Given the description of an element on the screen output the (x, y) to click on. 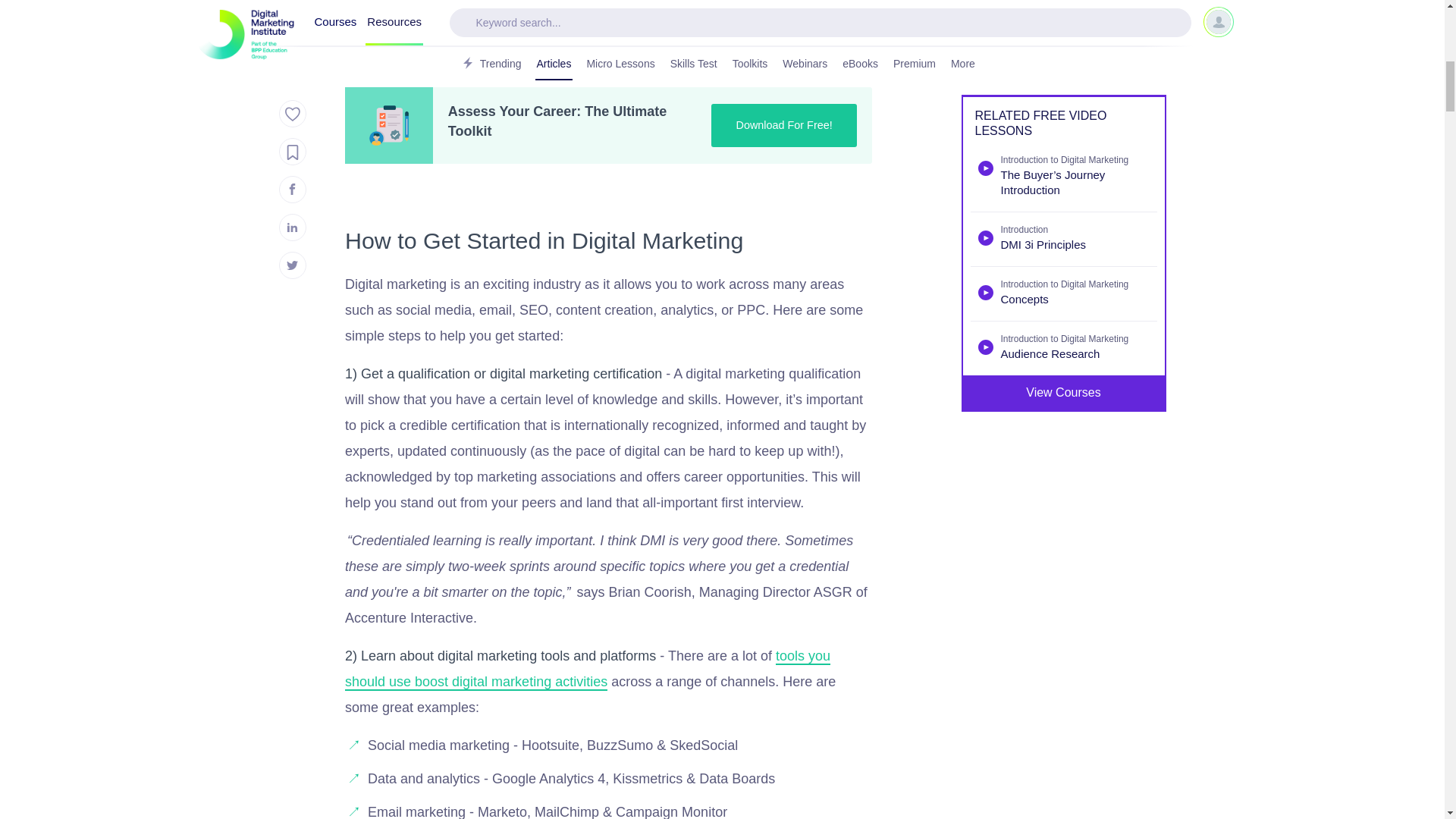
tools you should use boost digital marketing activities (587, 669)
Download For Free! (784, 125)
